Given the description of an element on the screen output the (x, y) to click on. 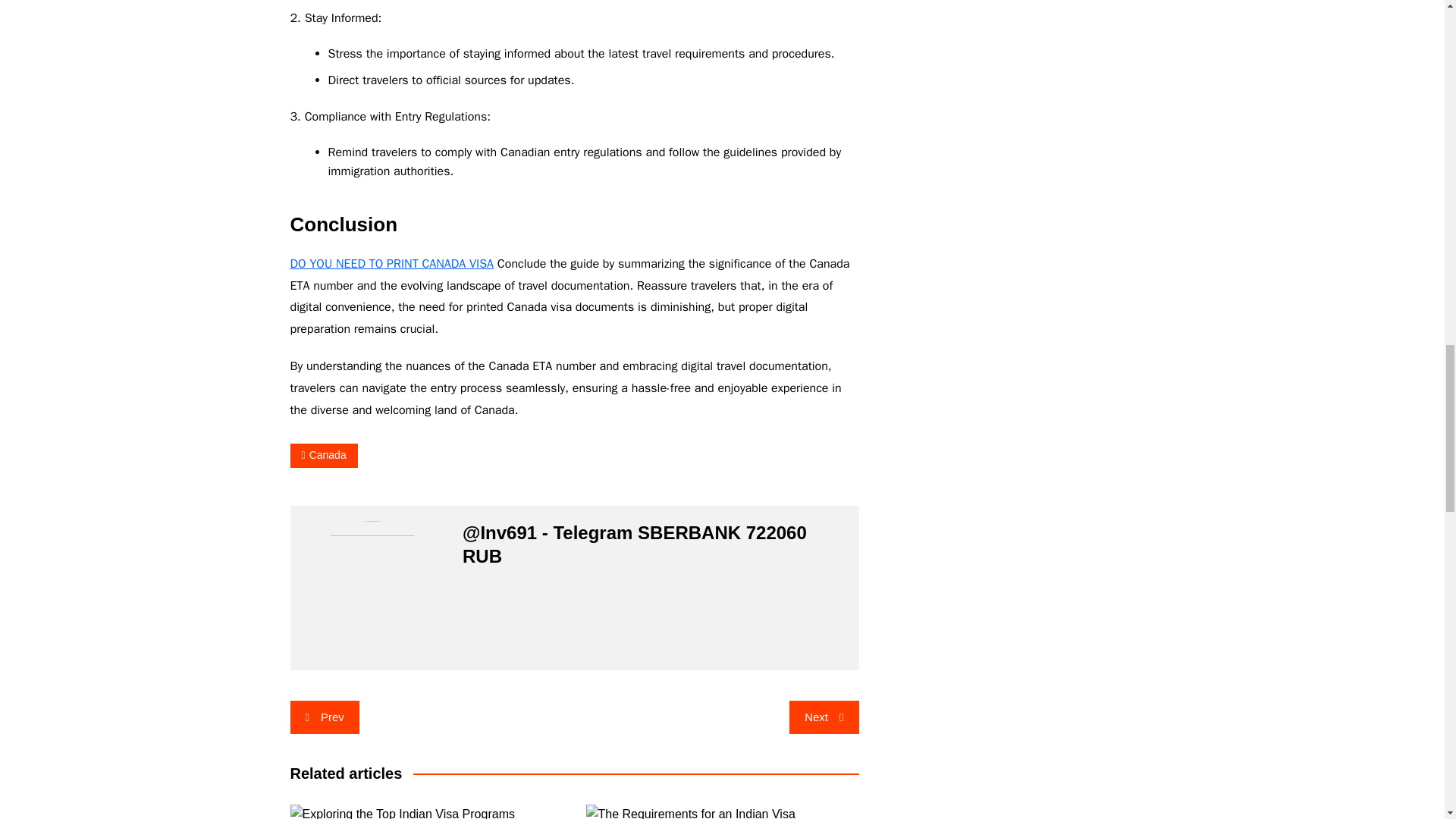
Next (824, 717)
Canada (322, 454)
Prev (323, 717)
DO YOU NEED TO PRINT CANADA VISA (391, 263)
